Given the description of an element on the screen output the (x, y) to click on. 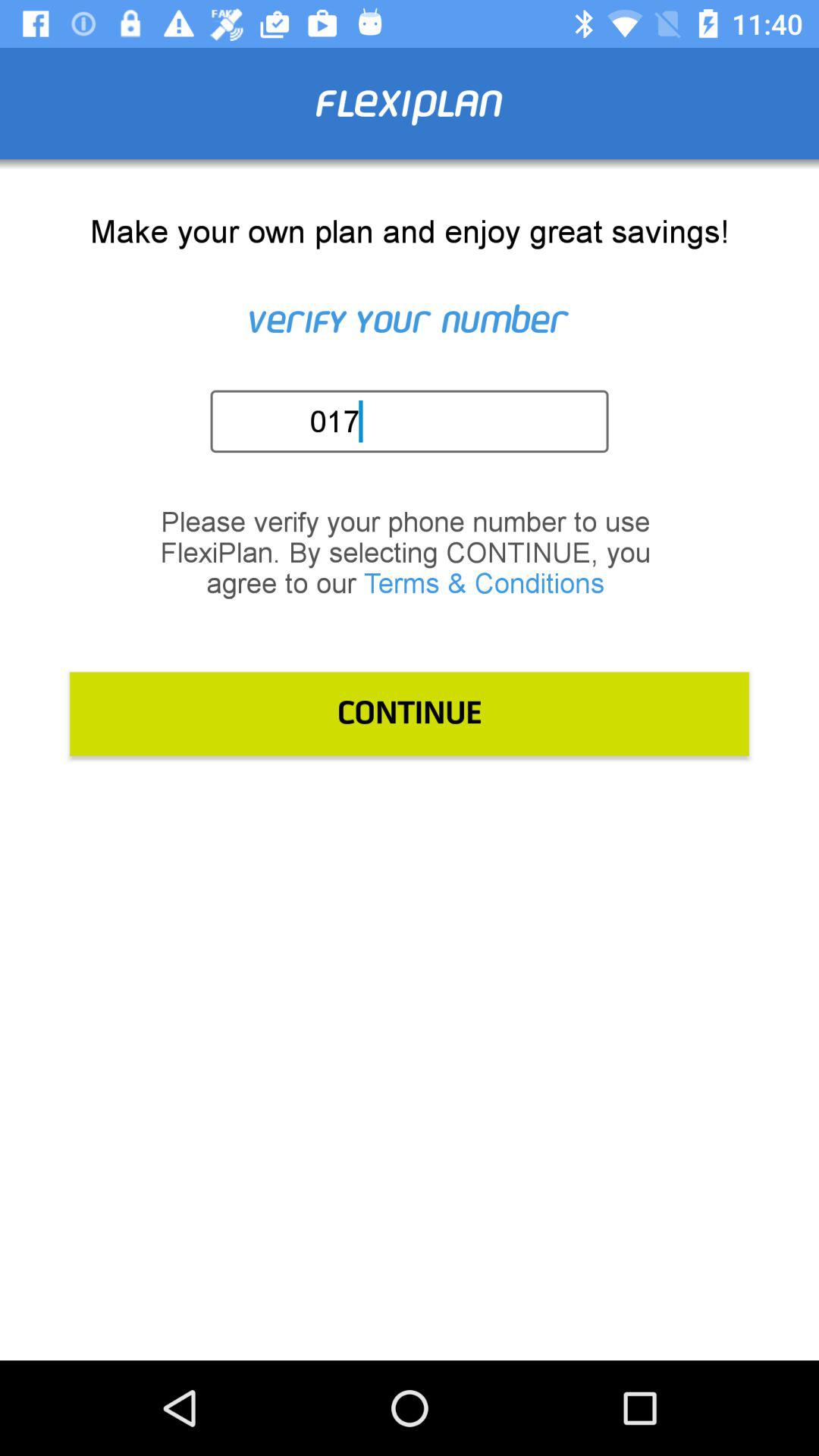
press the item below the verify your number icon (413, 421)
